Given the description of an element on the screen output the (x, y) to click on. 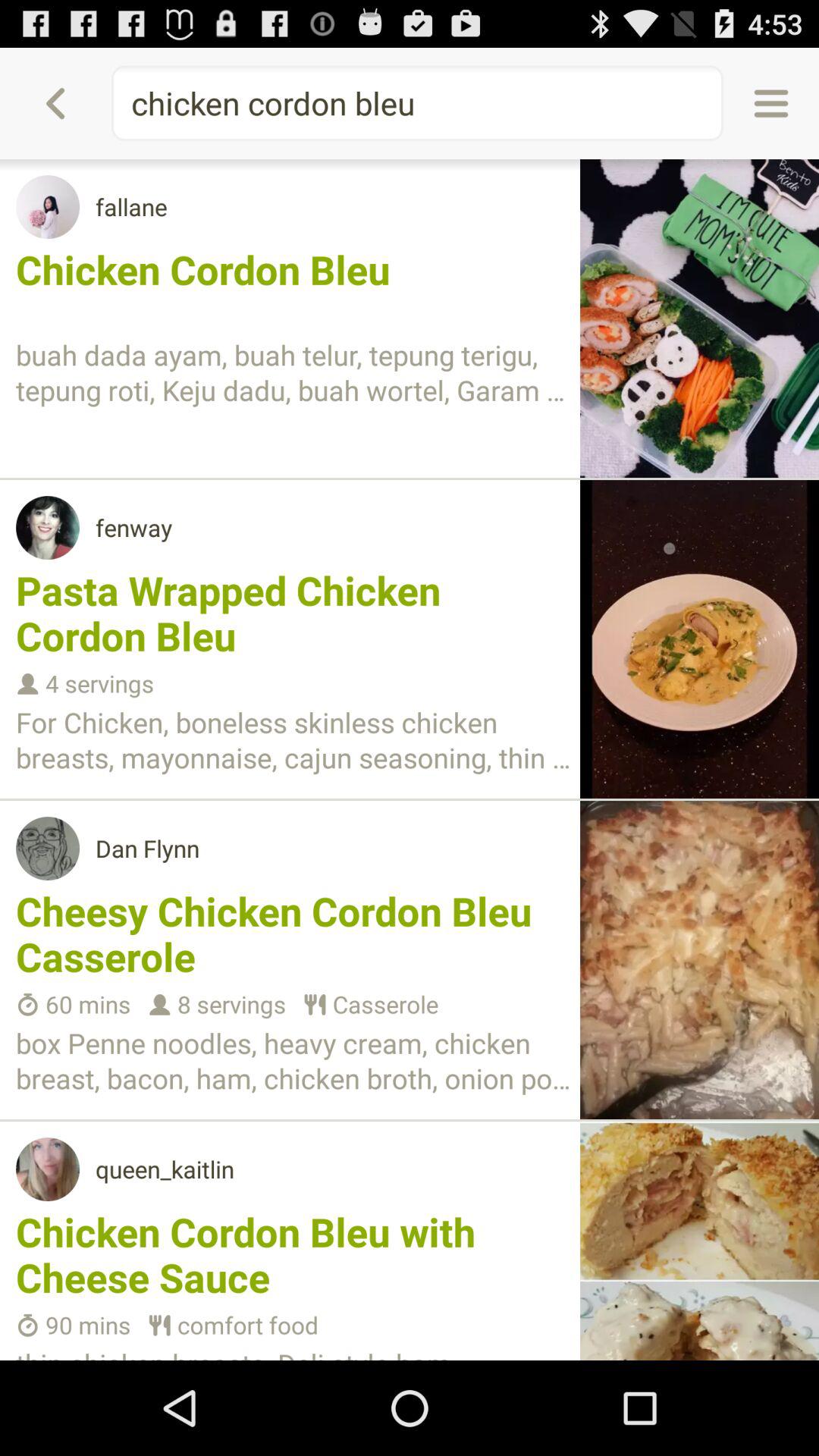
select the icon to the right of chicken cordon bleu icon (771, 103)
